Given the description of an element on the screen output the (x, y) to click on. 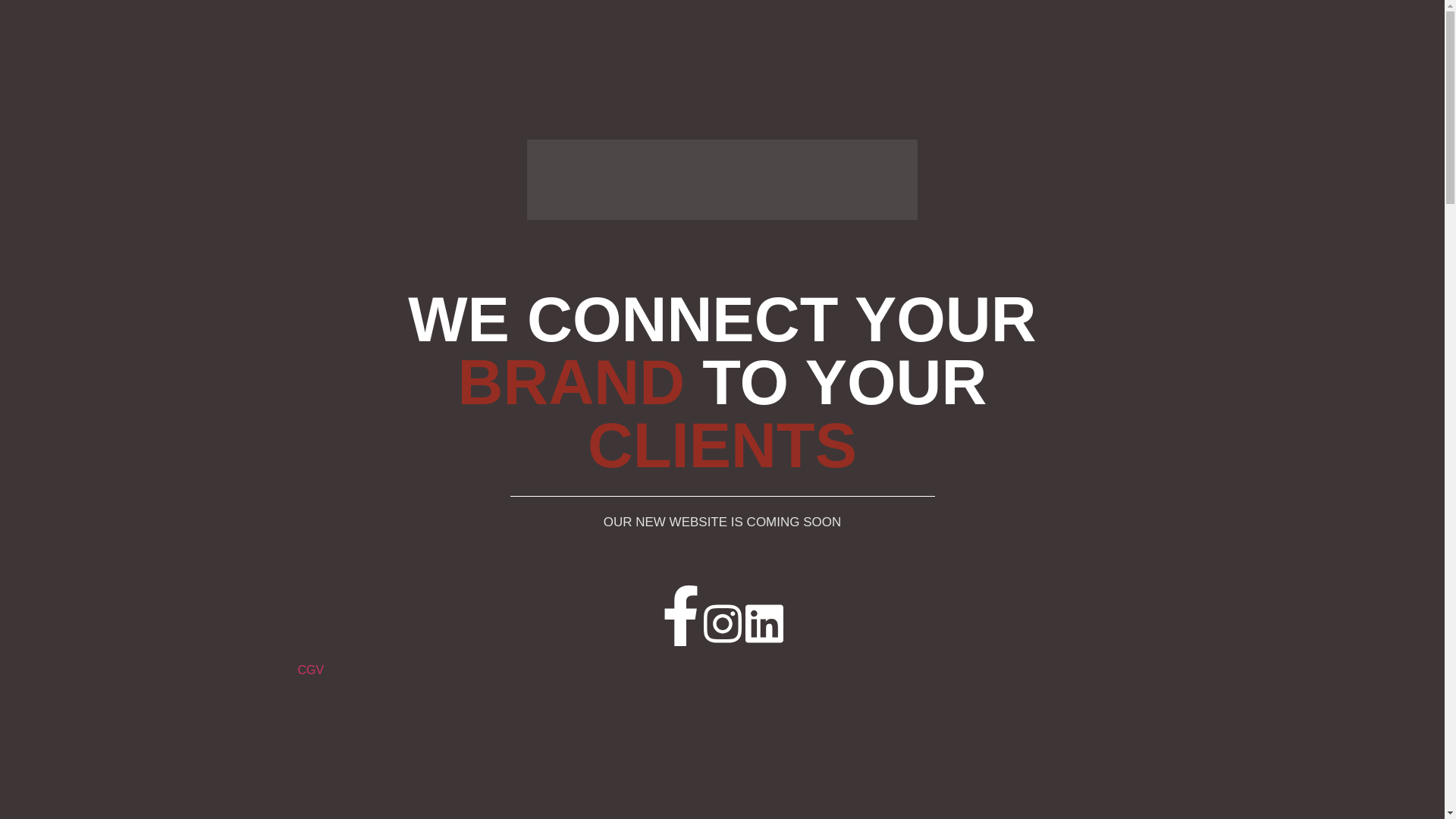
CGV Element type: text (310, 669)
